Given the description of an element on the screen output the (x, y) to click on. 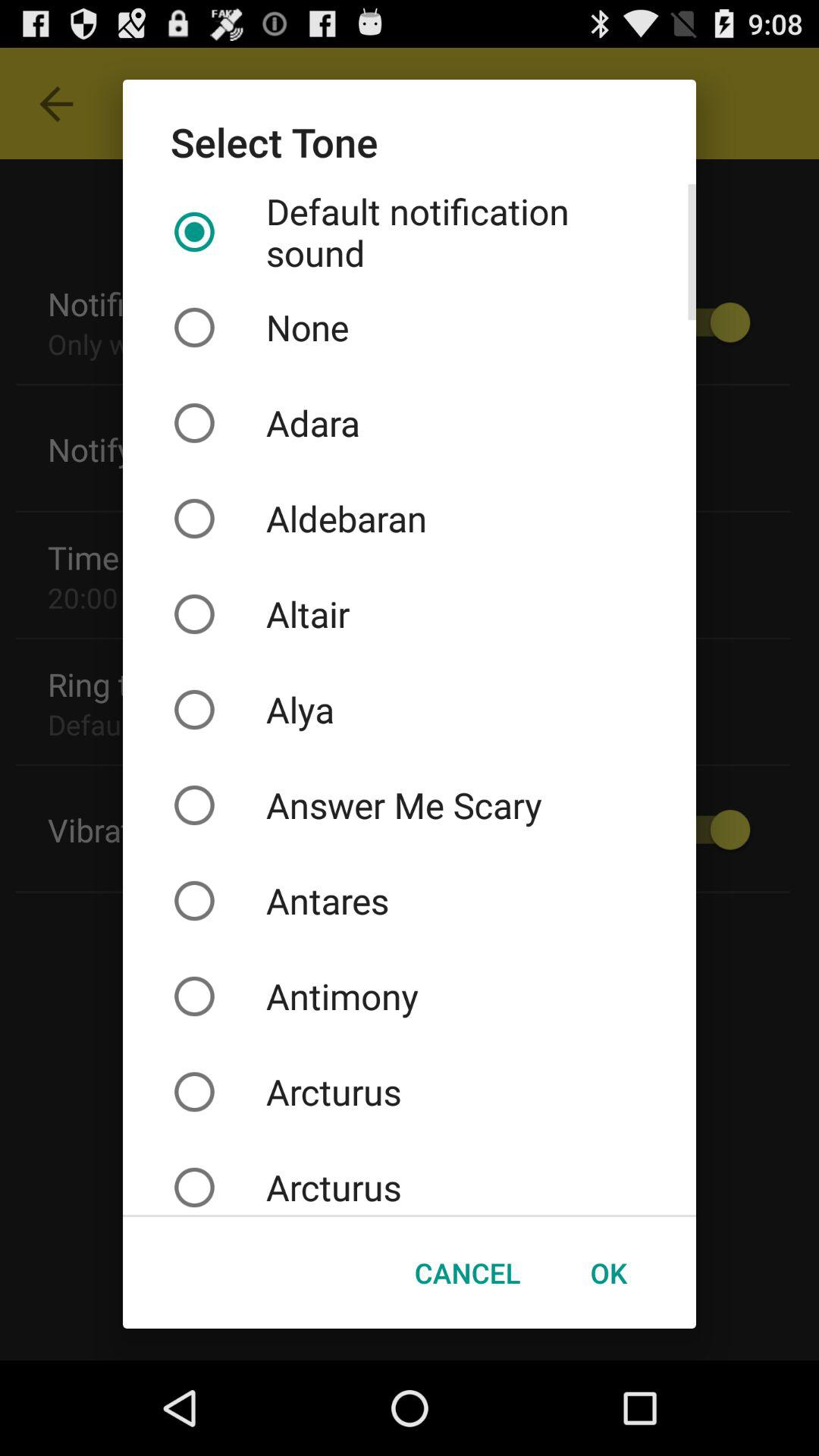
select the button at the bottom right corner (608, 1272)
